Given the description of an element on the screen output the (x, y) to click on. 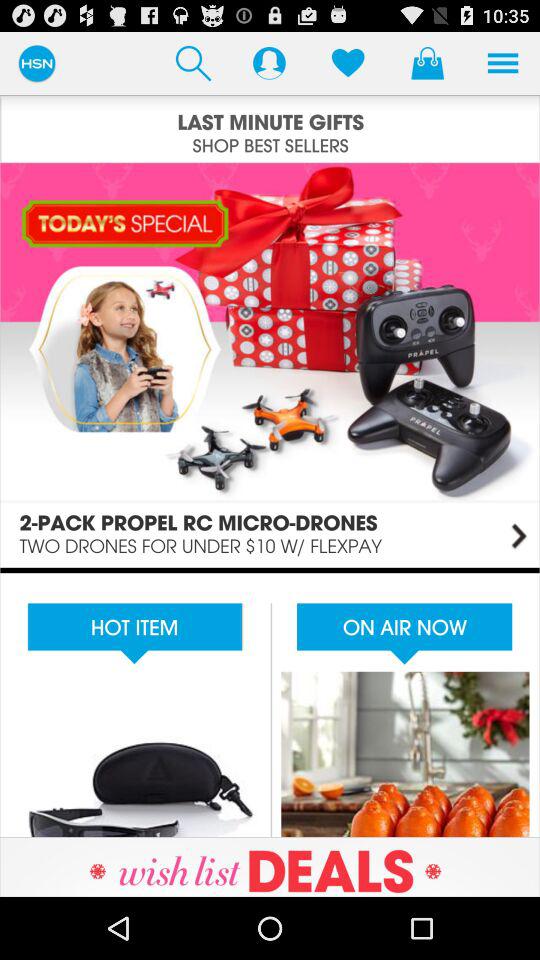
see more deals (269, 866)
